Given the description of an element on the screen output the (x, y) to click on. 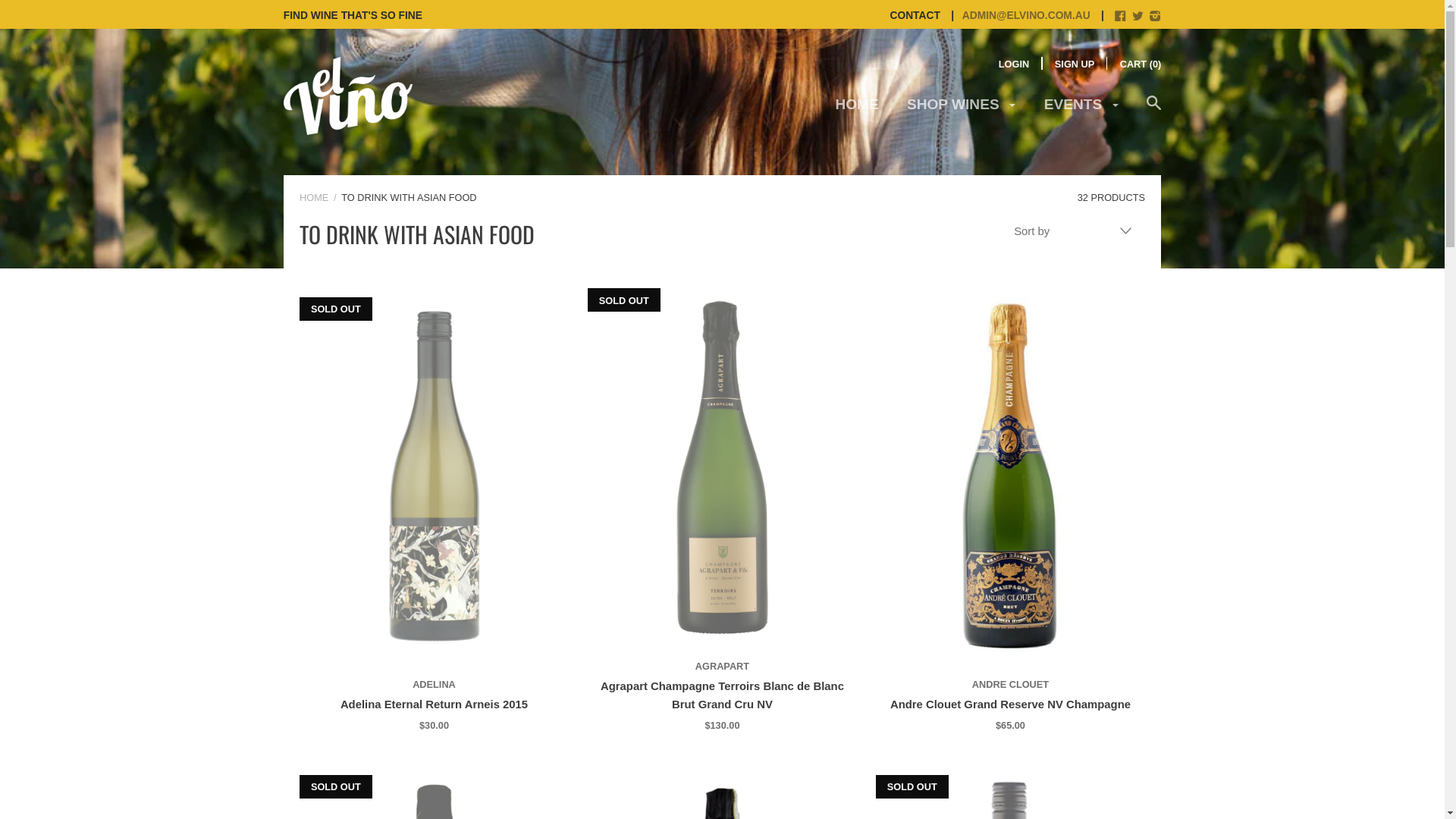
HOME Element type: text (313, 197)
CART (0) Element type: text (1140, 63)
EVENTS Element type: text (1081, 110)
ANDRE CLOUET Element type: text (1010, 684)
Search Element type: hover (1153, 111)
Facebook Element type: text (1120, 16)
Andre Clouet Grand Reserve NV Champagne Element type: text (1010, 705)
AGRAPART Element type: text (721, 666)
SIGN UP Element type: text (1074, 63)
SOLD OUT Element type: text (721, 467)
LOGIN Element type: text (1013, 63)
HOME Element type: text (856, 110)
SOLD OUT Element type: text (433, 476)
Twitter Element type: text (1137, 16)
ADMIN@ELVINO.COM.AU Element type: text (1016, 14)
Instagram Element type: text (1155, 16)
Agrapart Champagne Terroirs Blanc de Blanc Brut Grand Cru NV Element type: text (721, 695)
SHOP WINES Element type: text (961, 110)
ADELINA Element type: text (433, 684)
Adelina Eternal Return Arneis 2015 Element type: text (433, 705)
